Given the description of an element on the screen output the (x, y) to click on. 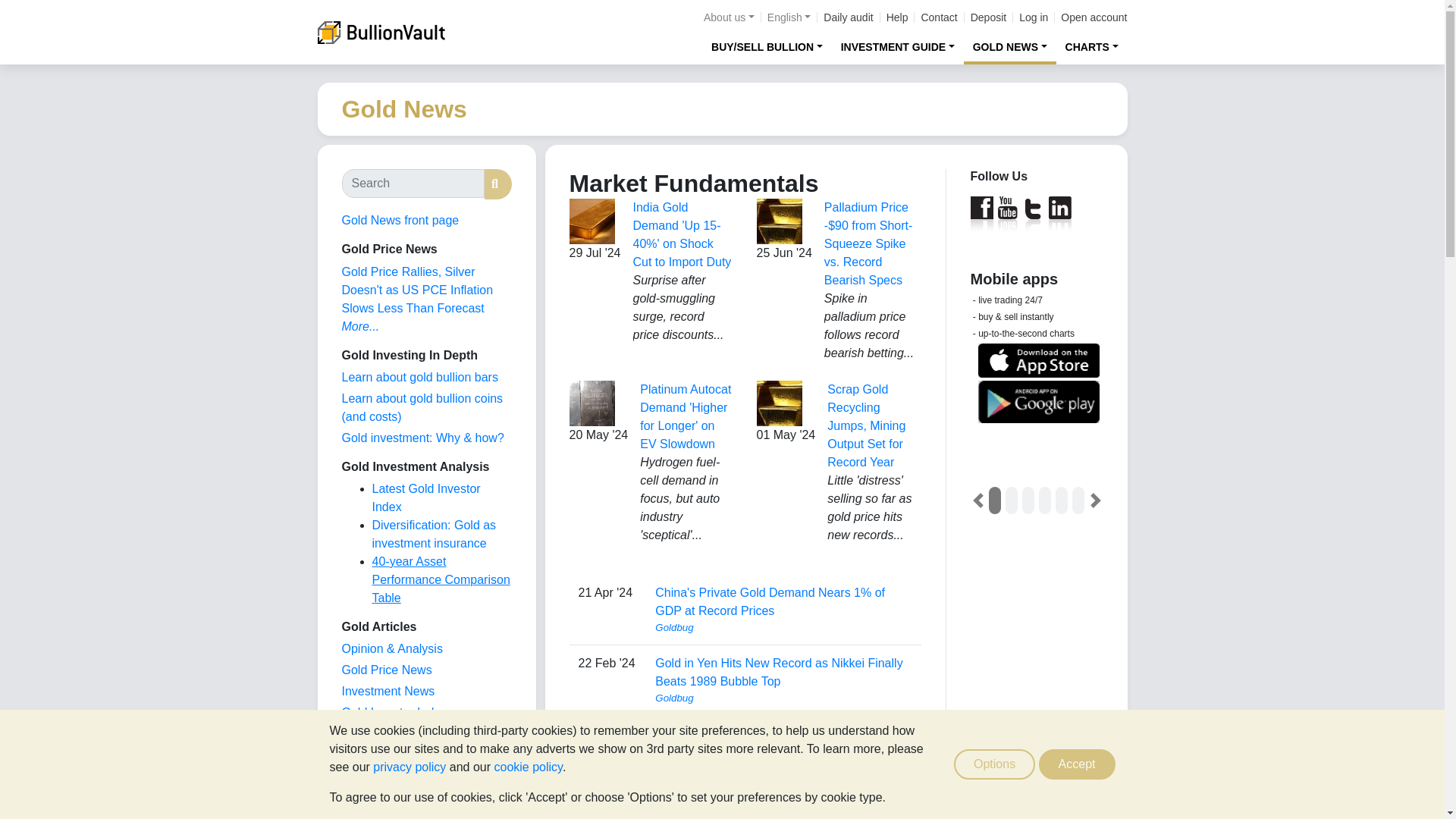
Log in (1033, 17)
Enter the terms you wish to search for. (411, 183)
Daily audit (848, 17)
English (788, 17)
The View from the Vault (391, 648)
Market Fundamentals (399, 754)
Gold Price News (385, 669)
Gold in History (380, 775)
View user profile. (783, 768)
Contact (938, 17)
Gold Investor Index (393, 712)
Help (897, 17)
Accept (1077, 764)
Options (994, 764)
View user profile. (783, 627)
